Given the description of an element on the screen output the (x, y) to click on. 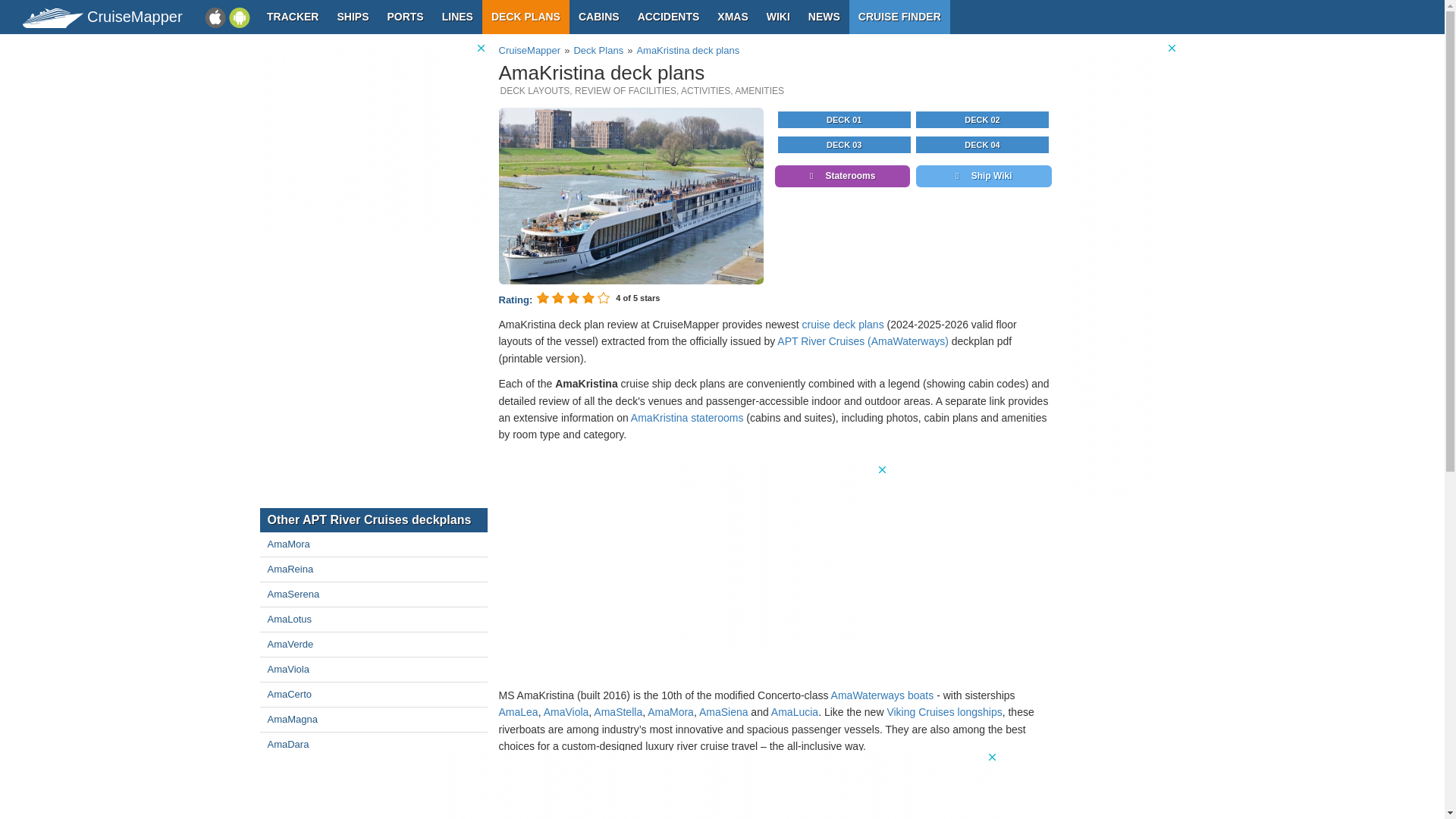
TRACKER (292, 17)
Viking Cruises longships (943, 711)
CruiseMapper Mobile apps (227, 17)
NEWS (823, 17)
LINES (456, 17)
2 (558, 297)
AmaLucia (794, 711)
3rd party ad content (1117, 268)
AmaKristina staterooms (687, 417)
CRUISE FINDER (899, 17)
AmaViola (566, 711)
AmaKristina deck plans (687, 50)
DECK 03 (844, 144)
DECK PLANS (525, 17)
AmaKristina cruise ship (631, 195)
